Given the description of an element on the screen output the (x, y) to click on. 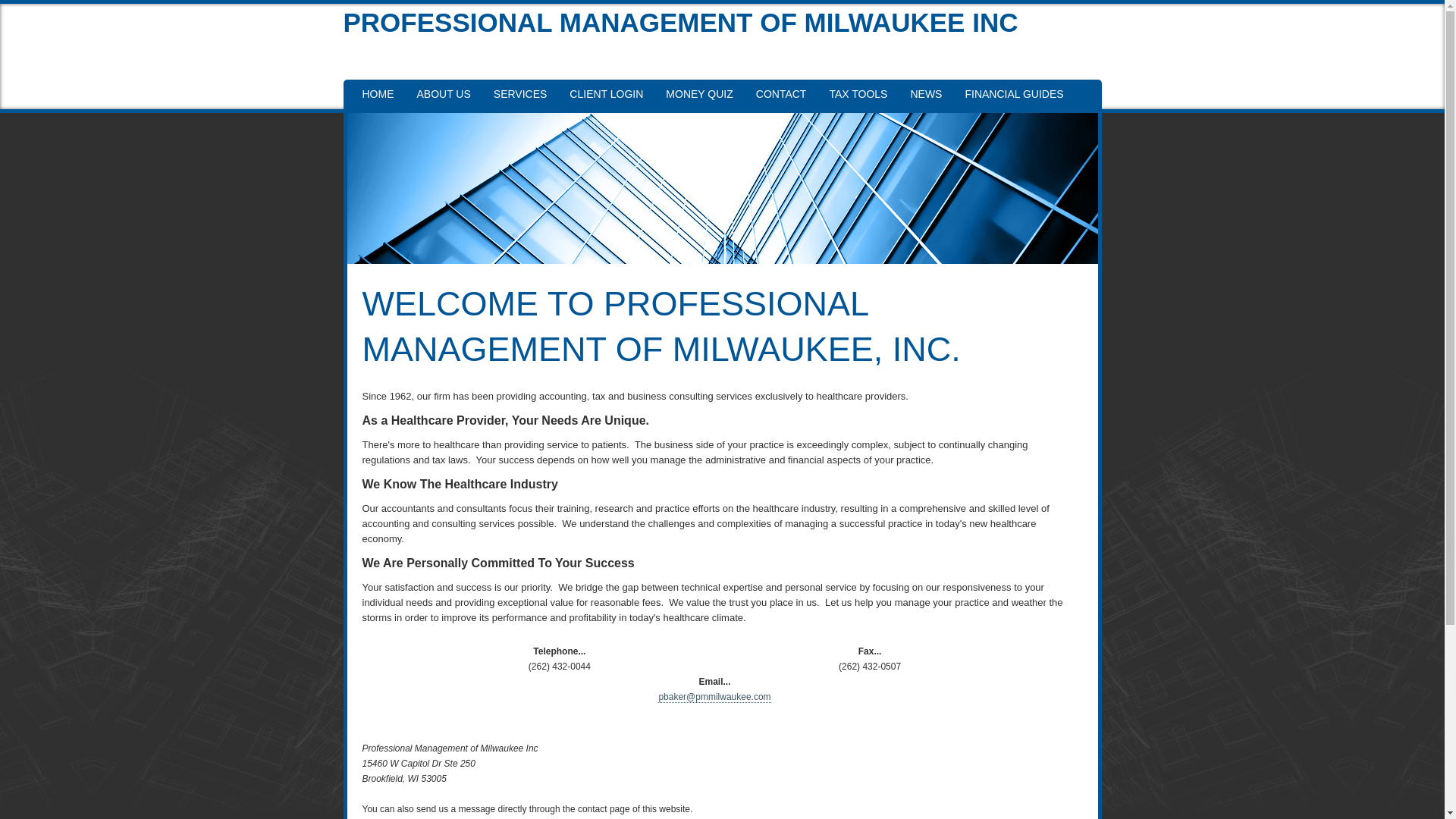
CONTACT (781, 93)
CLIENT LOGIN (605, 93)
PROFESSIONAL MANAGEMENT OF MILWAUKEE INC (721, 22)
HOME (377, 93)
ABOUT US (442, 93)
TAX TOOLS (857, 93)
SERVICES (520, 93)
NEWS (925, 93)
MONEY QUIZ (698, 93)
FINANCIAL GUIDES (1013, 93)
